Given the description of an element on the screen output the (x, y) to click on. 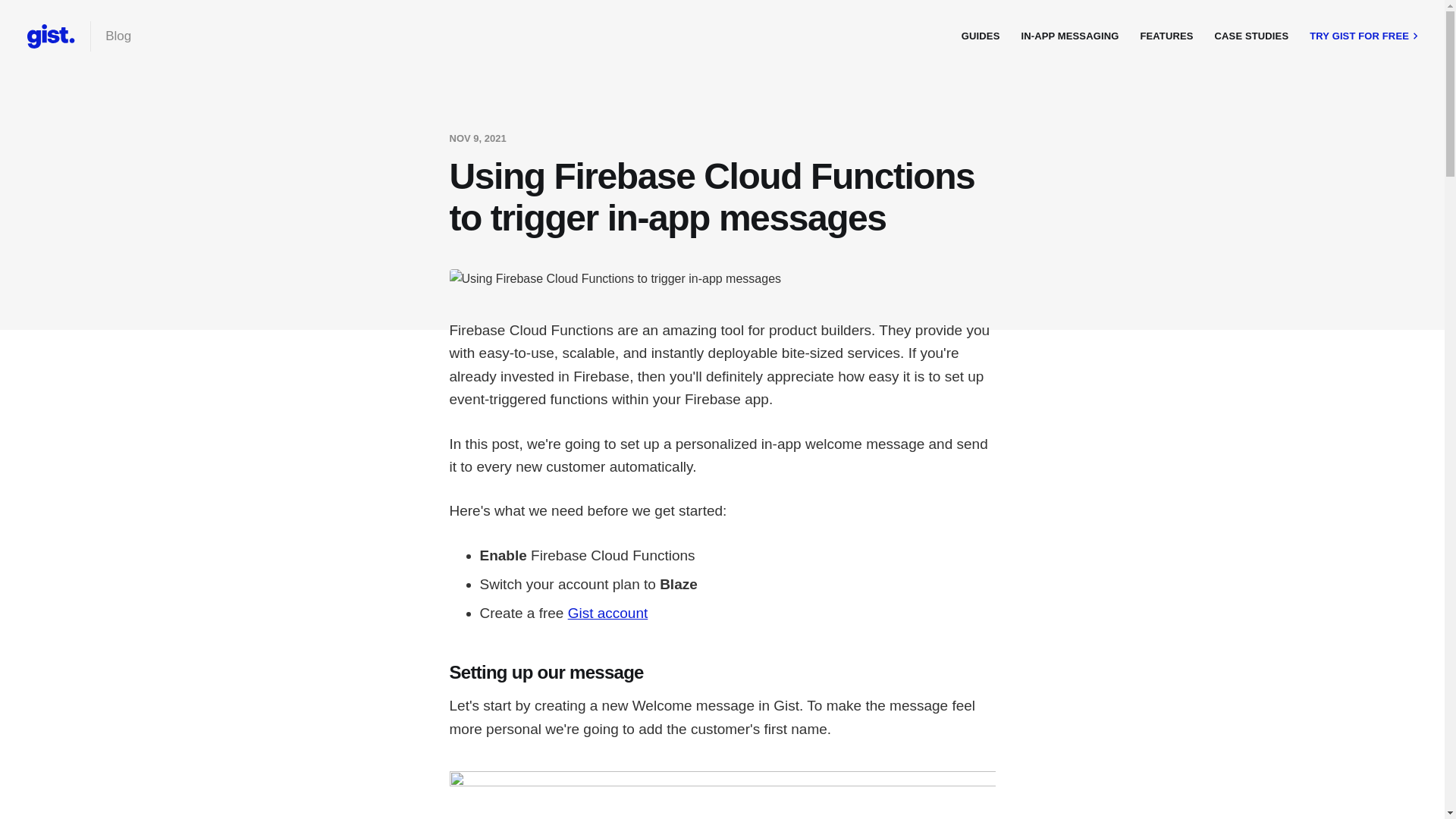
CASE STUDIES Element type: text (1251, 35)
FEATURES Element type: text (1165, 35)
TRY GIST FOR FREE Element type: text (1365, 35)
GUIDES Element type: text (980, 35)
Gist account Element type: text (607, 613)
IN-APP MESSAGING Element type: text (1069, 35)
